Given the description of an element on the screen output the (x, y) to click on. 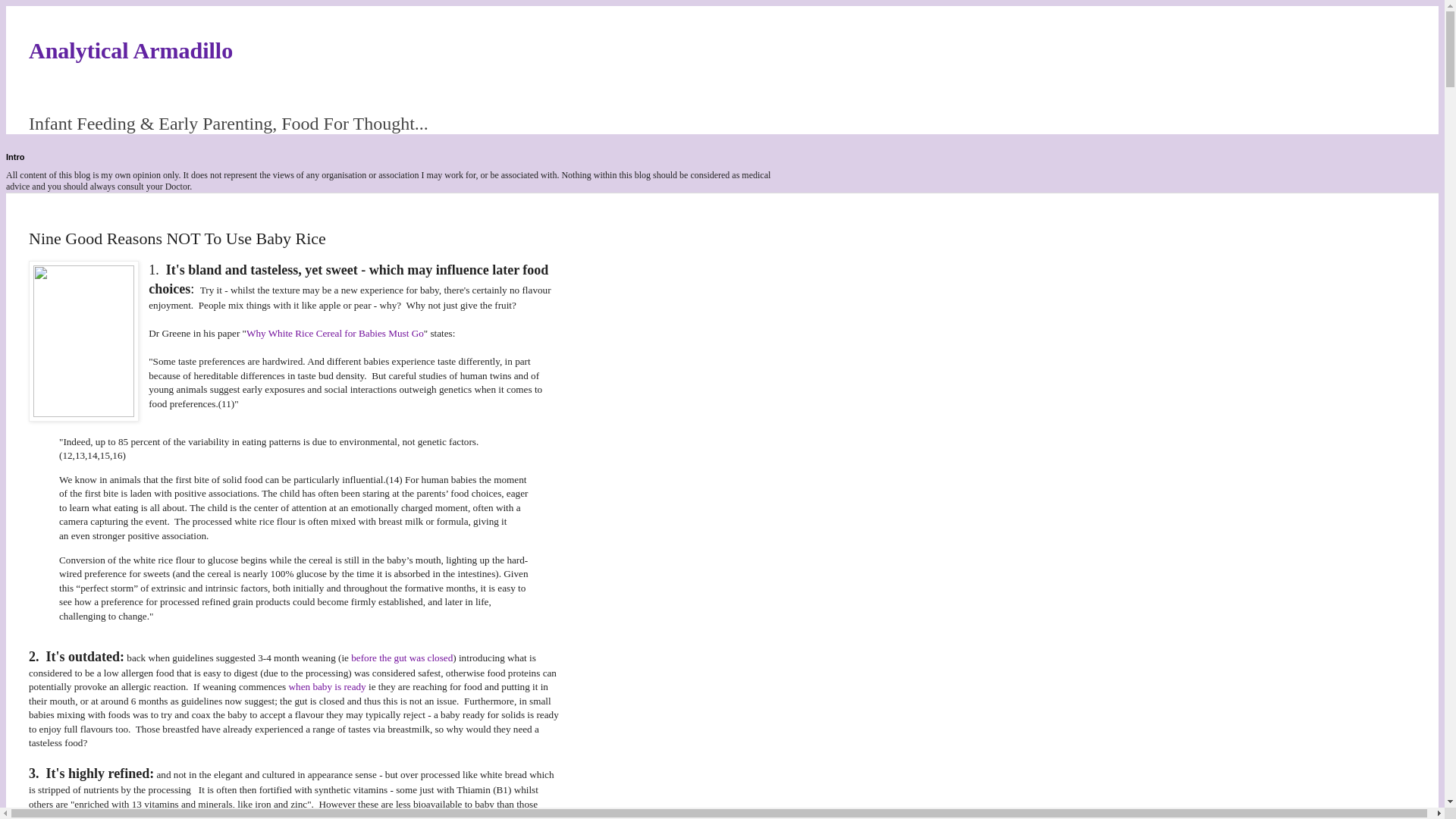
Why White Rice Cereal for Babies Must Go (334, 333)
Analytical Armadillo (130, 50)
before the gut was closed (401, 657)
when baby is ready (327, 686)
